Given the description of an element on the screen output the (x, y) to click on. 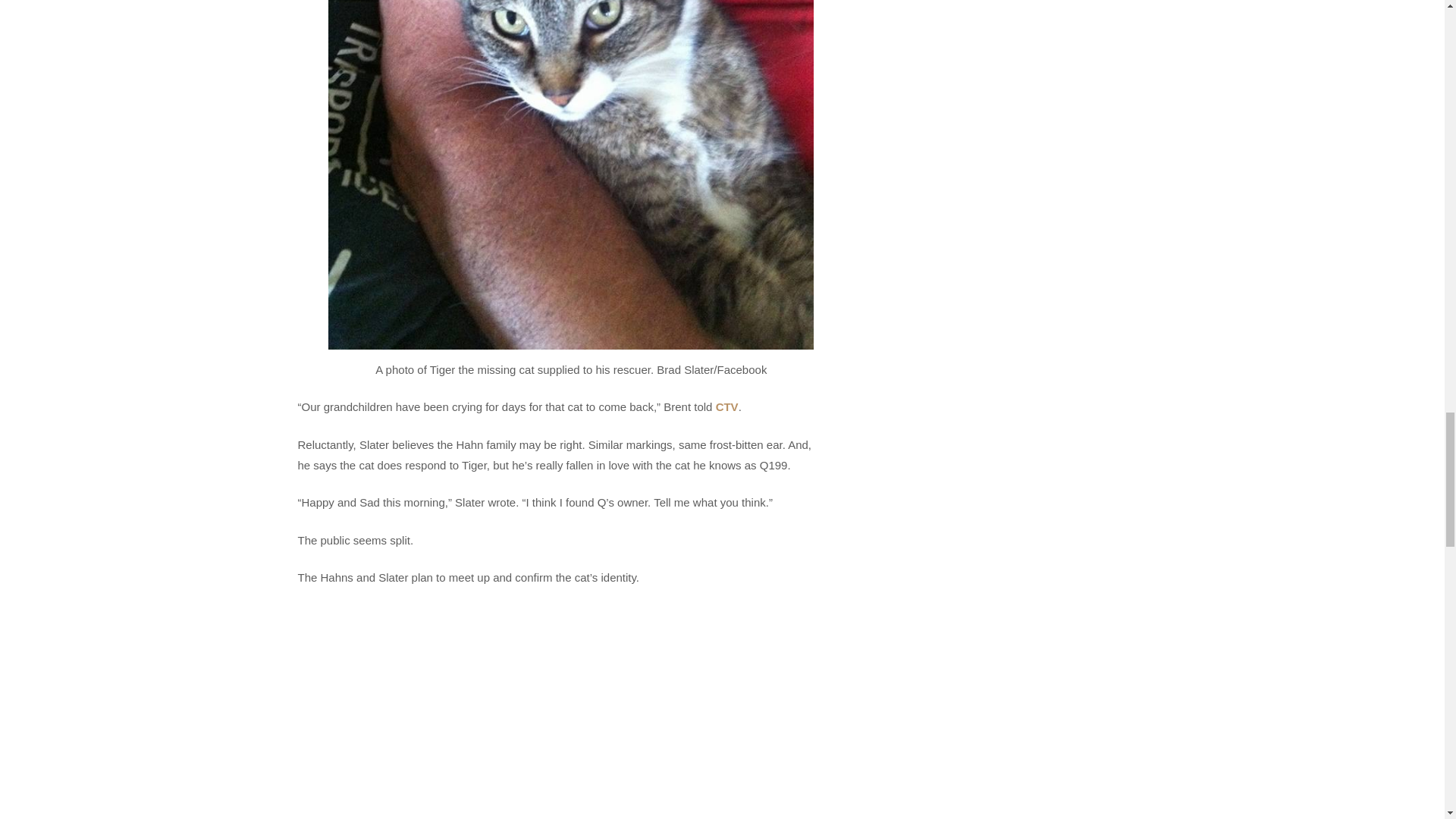
CTV (727, 406)
